Given the description of an element on the screen output the (x, y) to click on. 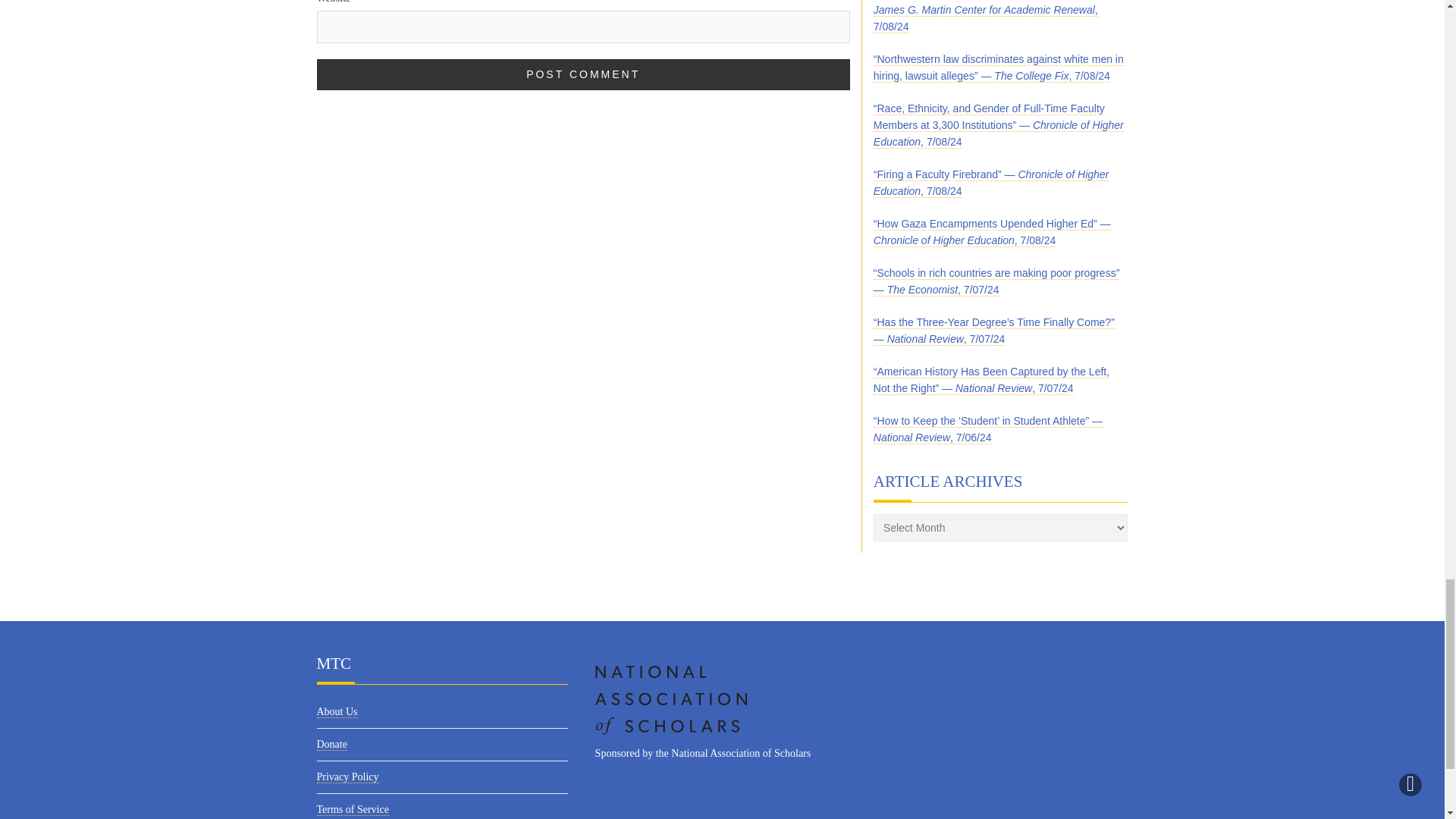
Post Comment (583, 74)
Post Comment (583, 74)
